Given the description of an element on the screen output the (x, y) to click on. 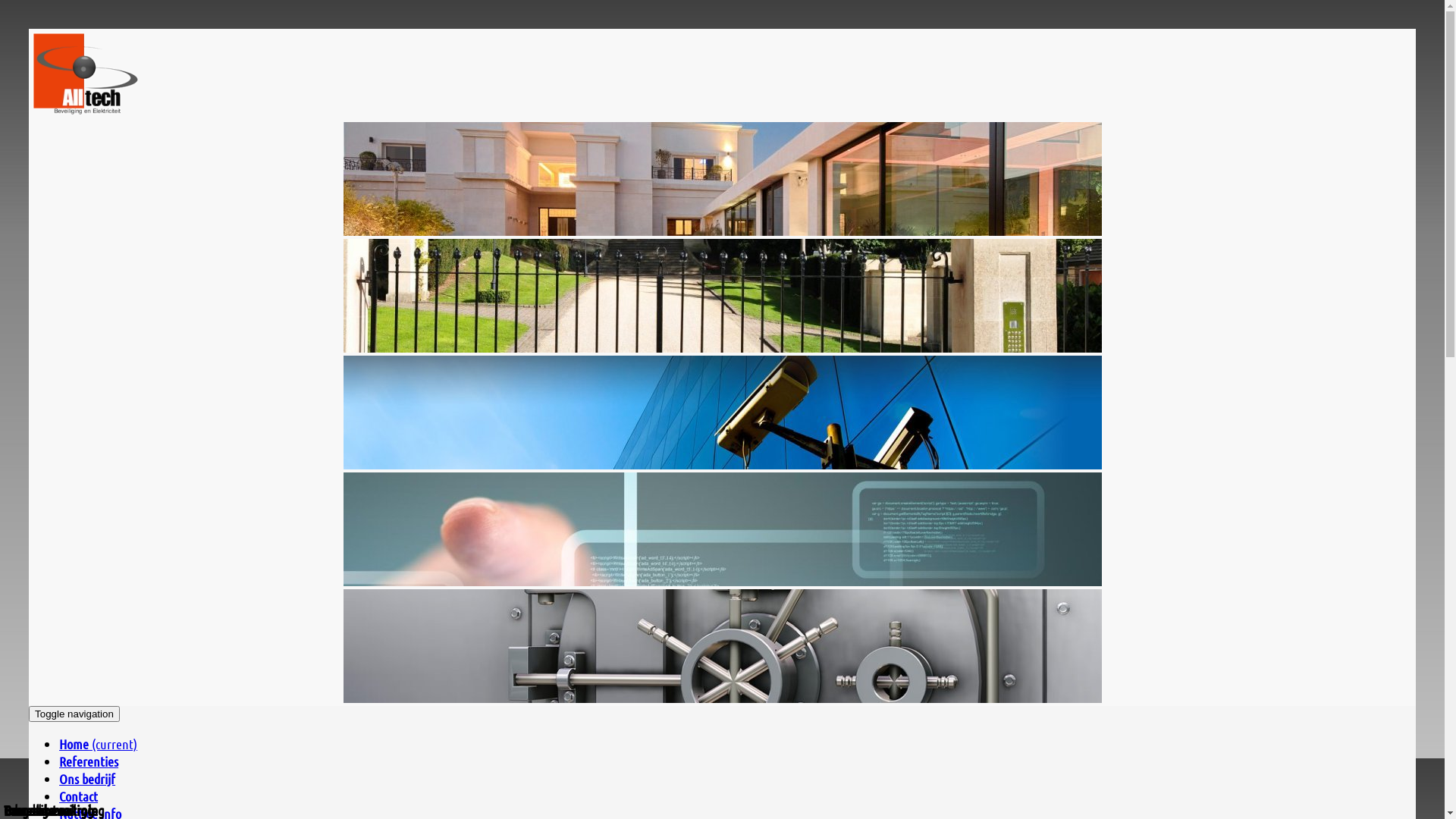
Home (current) Element type: text (98, 743)
Toggle navigation Element type: text (73, 713)
Contact Element type: text (78, 795)
Referenties Element type: text (88, 761)
Ons bedrijf Element type: text (87, 778)
